Given the description of an element on the screen output the (x, y) to click on. 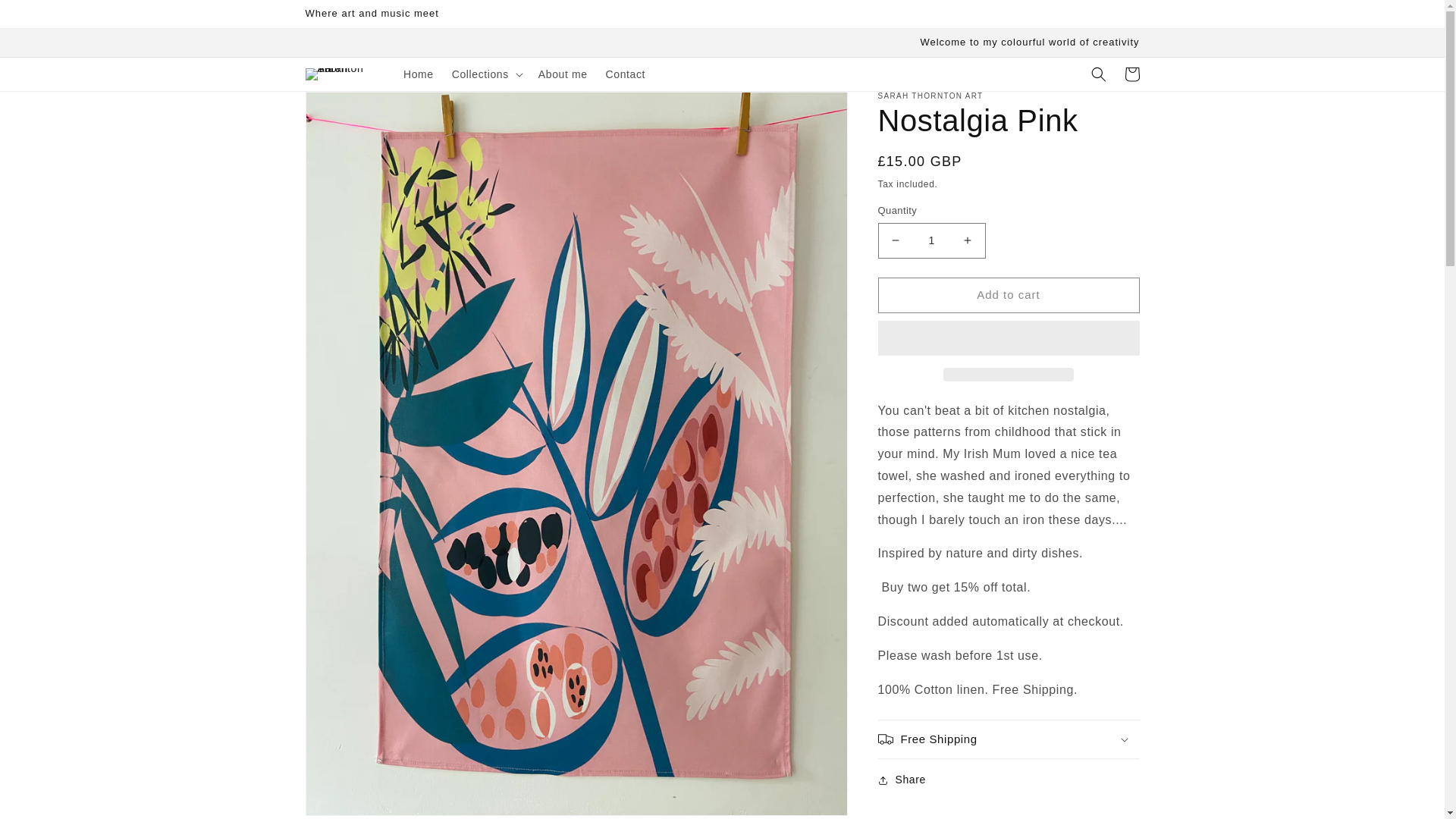
Contact (624, 74)
About me (562, 74)
1 (931, 240)
Home (418, 74)
Skip to product information (350, 108)
Cart (1131, 73)
Decrease quantity for Nostalgia Pink (894, 240)
Skip to content (45, 17)
